Given the description of an element on the screen output the (x, y) to click on. 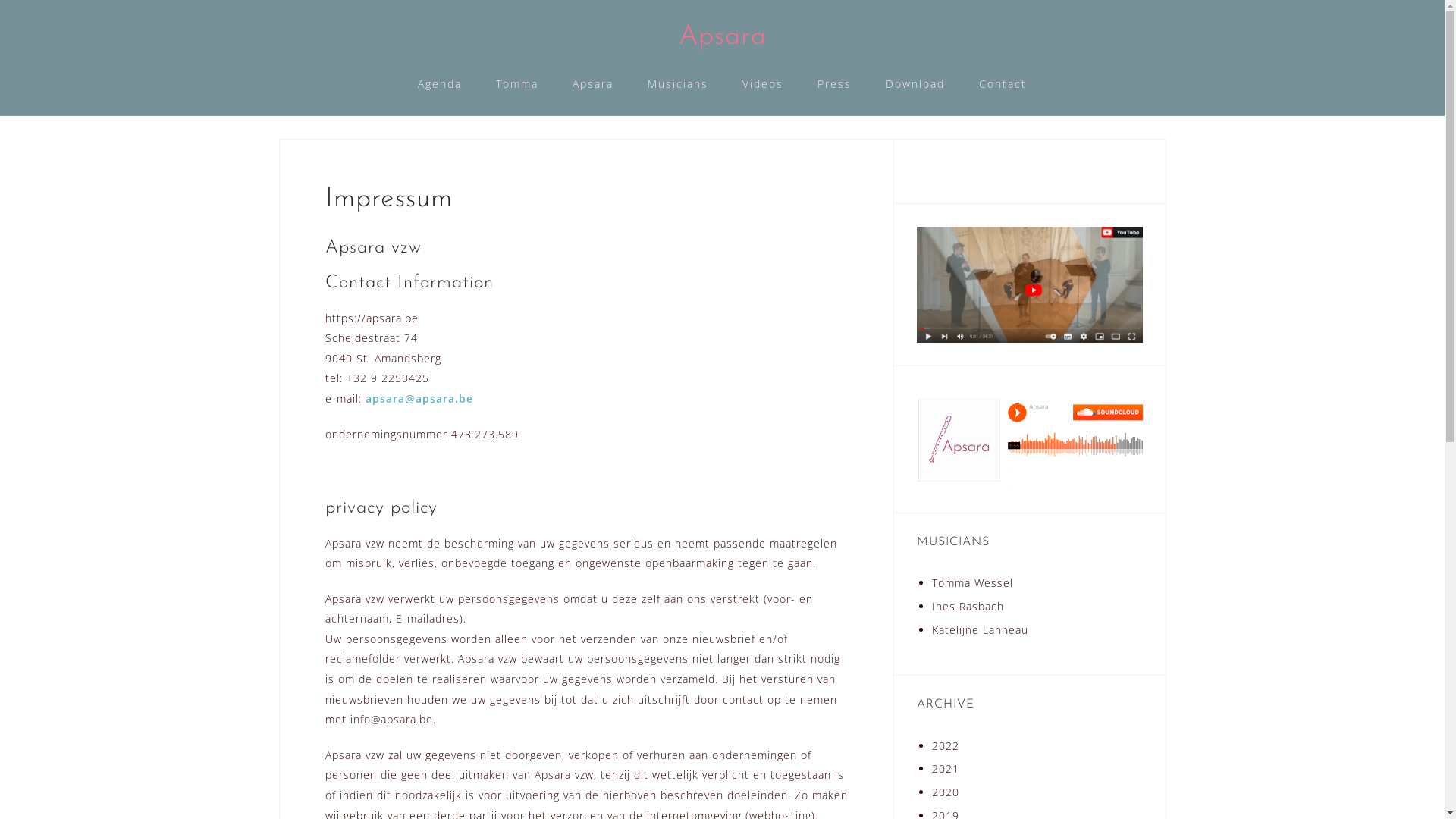
2022 Element type: text (944, 745)
2021 Element type: text (944, 768)
Agenda Element type: text (439, 84)
Tomma Wessel Element type: text (971, 582)
Ines Rasbach Element type: text (967, 606)
apsara@apsara.be Element type: text (419, 398)
Apsara Element type: text (592, 84)
Download Element type: text (914, 84)
Videos Element type: text (762, 84)
Apsara Element type: text (721, 36)
Contact Element type: text (1002, 84)
Katelijne Lanneau Element type: text (979, 629)
Tomma Element type: text (516, 84)
Press Element type: text (834, 84)
Musicians Element type: text (677, 84)
2020 Element type: text (944, 791)
